Given the description of an element on the screen output the (x, y) to click on. 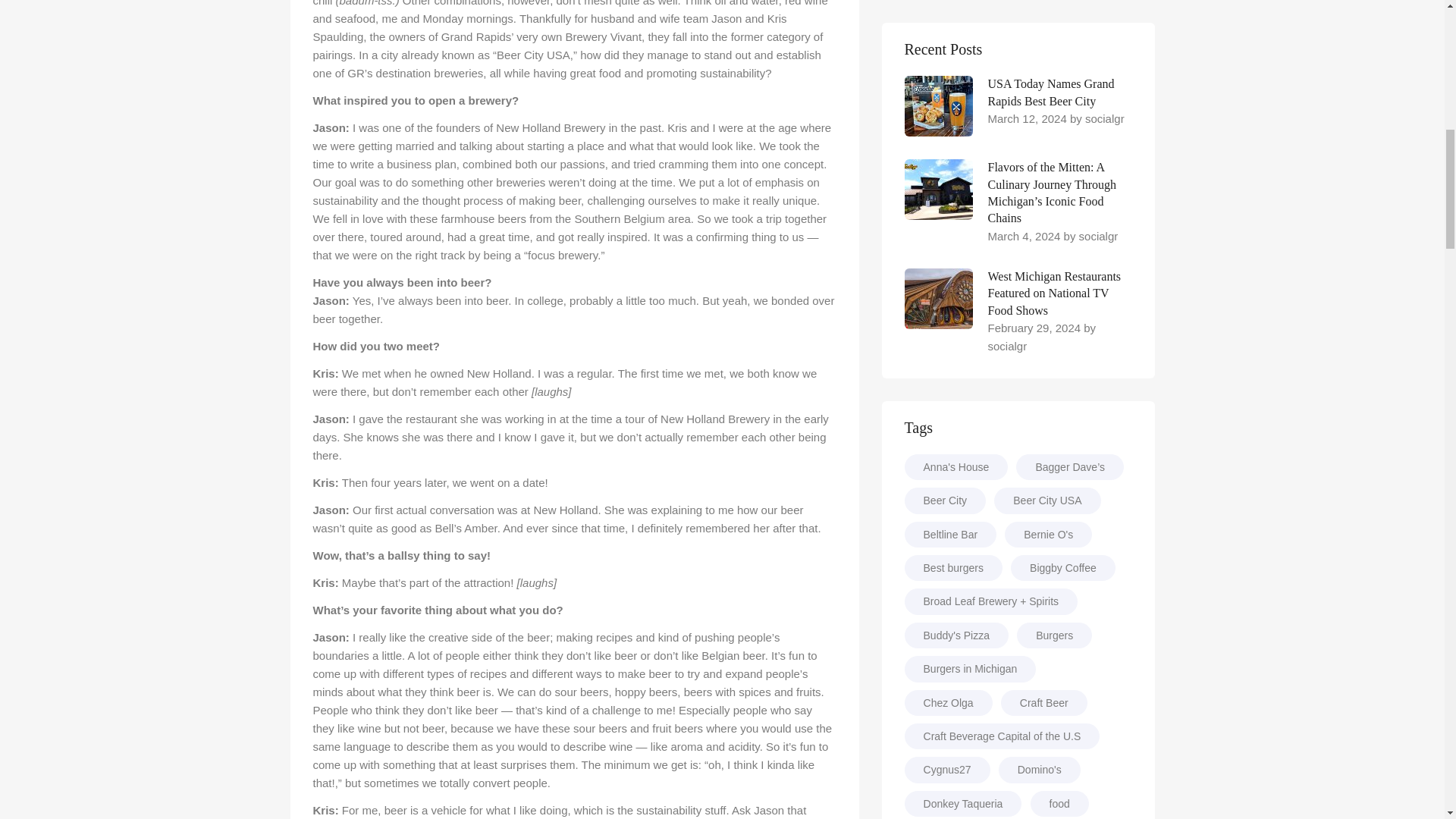
Posts by socialgr (1104, 118)
Posts by socialgr (1098, 236)
Posts by socialgr (1007, 345)
